Given the description of an element on the screen output the (x, y) to click on. 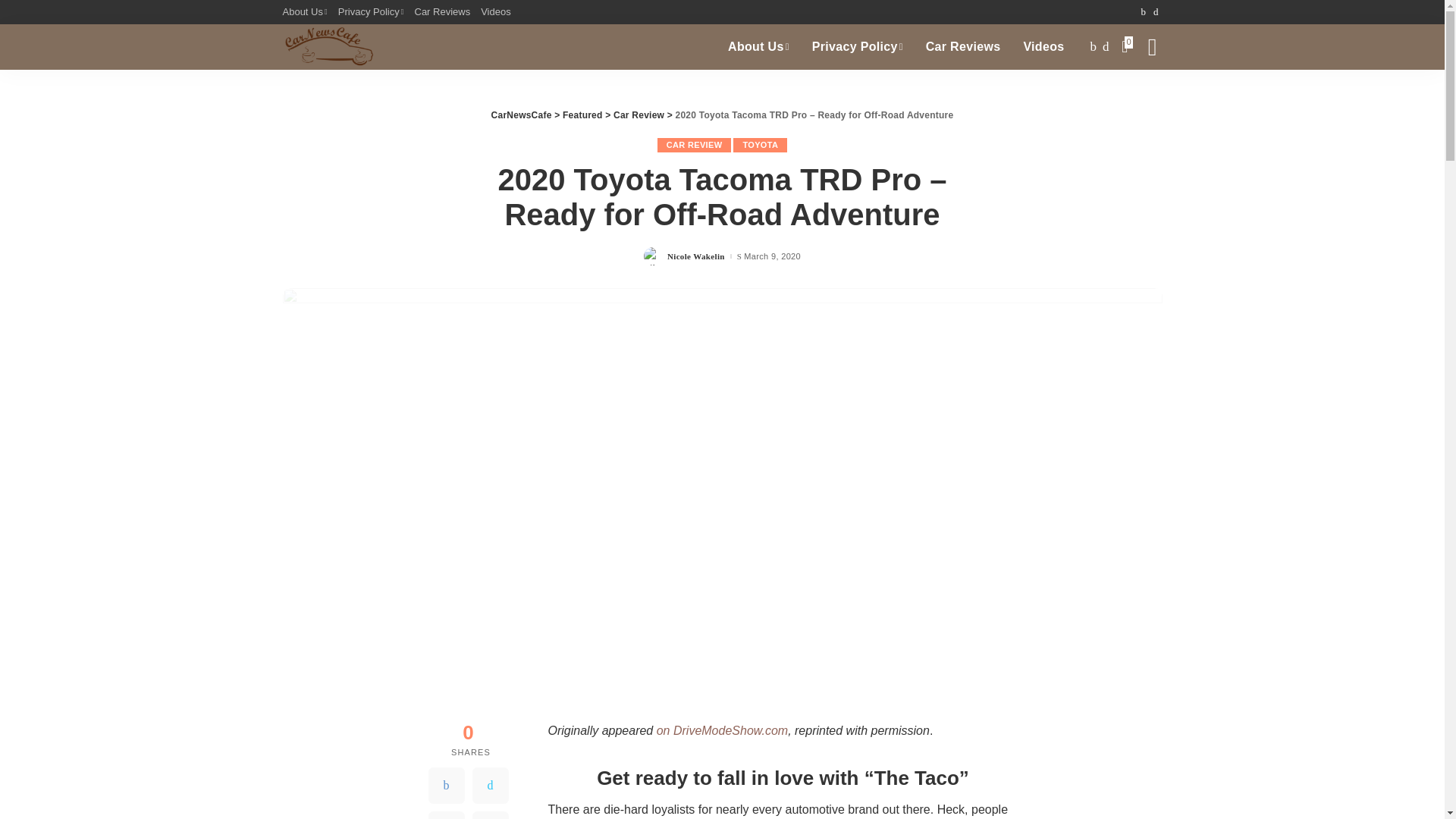
About Us (306, 12)
2020-03-09T07:30:28-04:00 (772, 256)
Search (1151, 46)
About Us (758, 46)
Privacy Policy (371, 12)
Email (489, 815)
Pinterest (446, 815)
Go to CarNewsCafe. (521, 114)
Facebook (446, 785)
Privacy Policy (857, 46)
Twitter (489, 785)
Videos (1043, 46)
Go to the Featured Category archives. (582, 114)
0 (1127, 46)
Search (1140, 97)
